Given the description of an element on the screen output the (x, y) to click on. 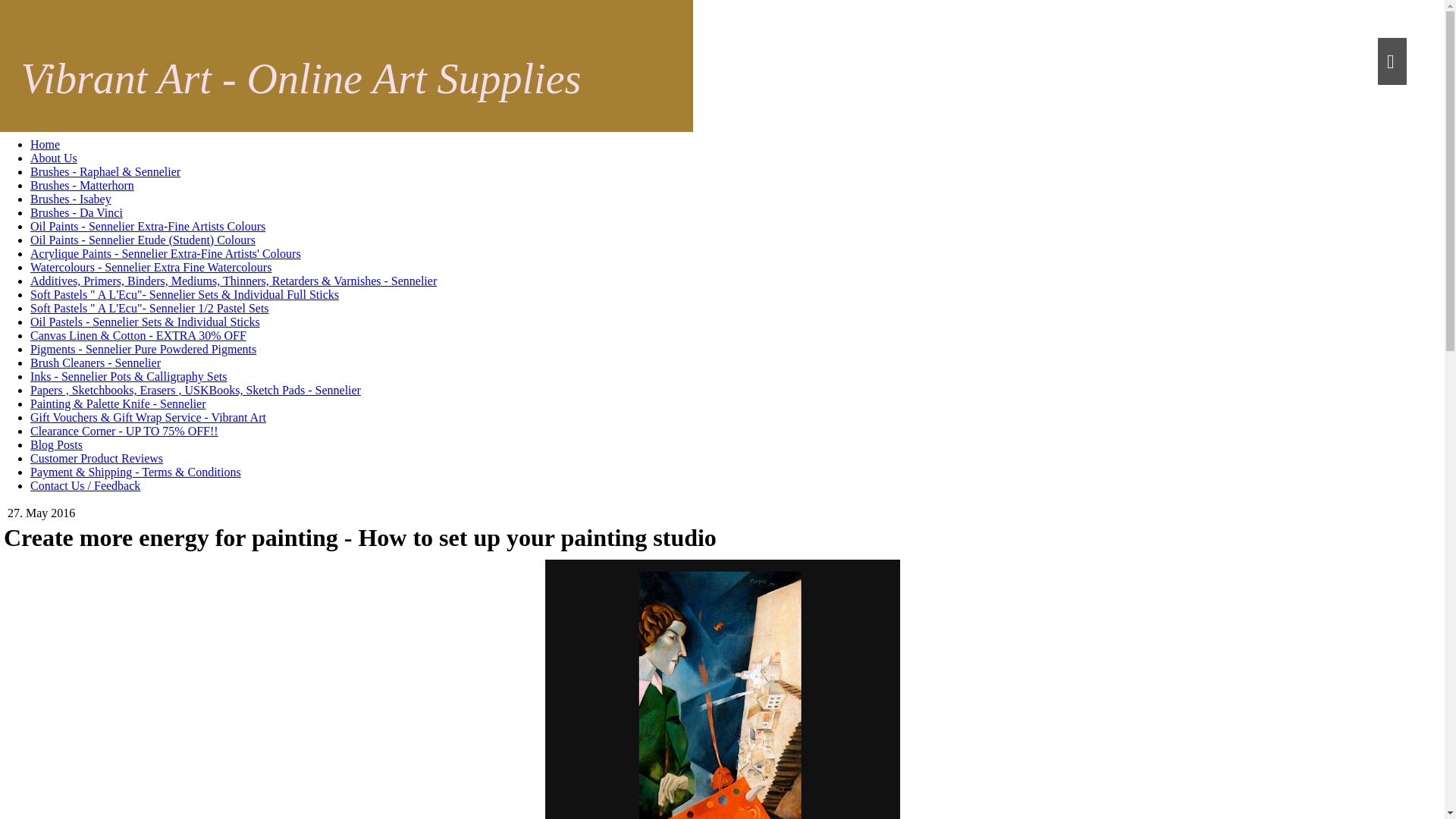
Brushes - Da Vinci (76, 212)
Acrylique Paints - Sennelier Extra-Fine Artists' Colours (165, 253)
Brushes - Matterhorn (81, 185)
Brush Cleaners - Sennelier (95, 362)
Pigments - Sennelier Pure Powdered Pigments (143, 349)
Customer Product Reviews (96, 458)
Watercolours - Sennelier Extra Fine Watercolours (150, 267)
About Us (53, 157)
Home (44, 144)
